Given the description of an element on the screen output the (x, y) to click on. 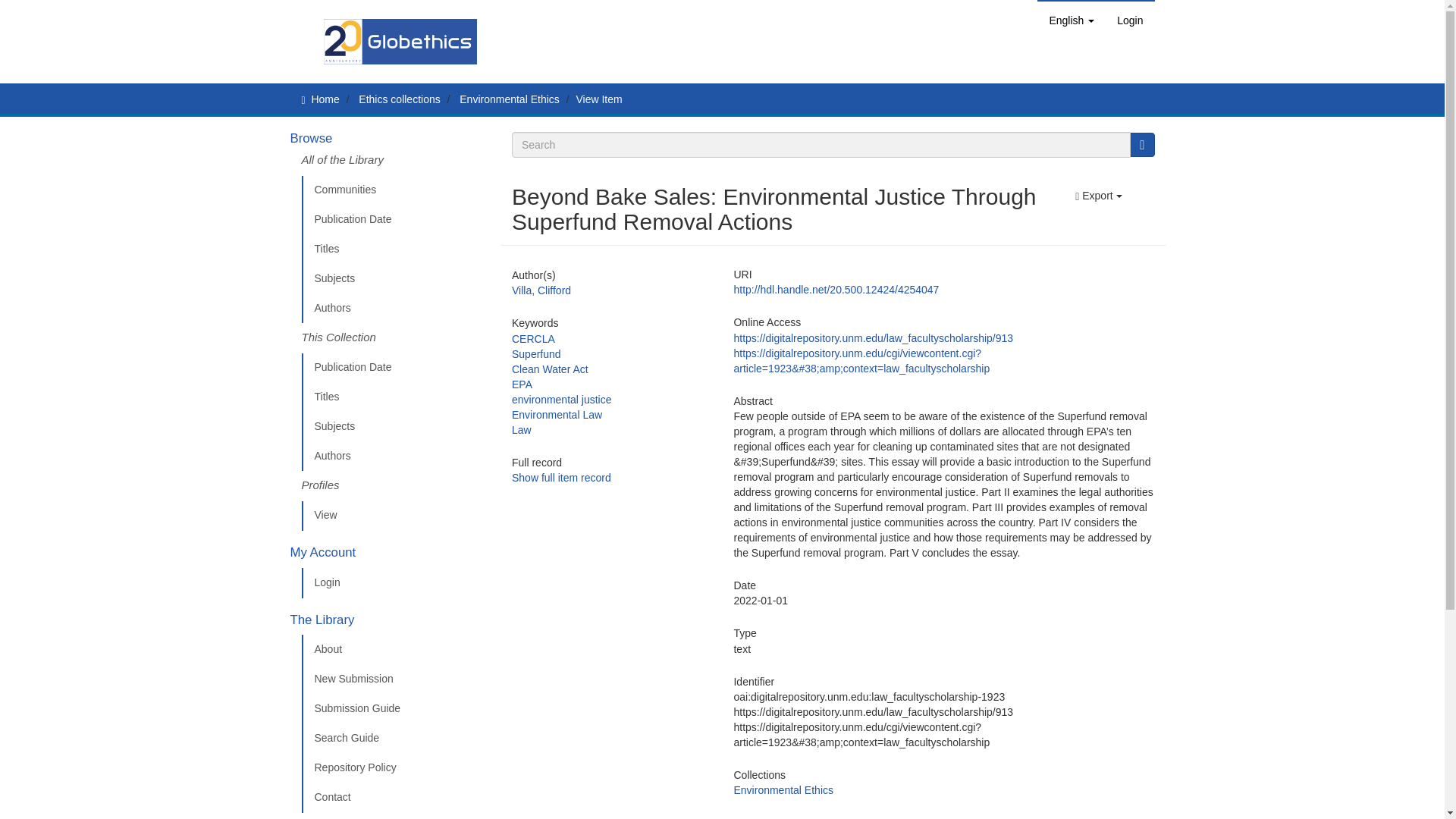
Go (1141, 144)
English  (1070, 19)
Communities (395, 190)
Ethics collections (398, 99)
All of the Library (395, 164)
Authors (395, 308)
Subjects (395, 278)
Environmental Ethics (509, 99)
Home (325, 99)
This Collection (395, 337)
Publication Date (395, 219)
Titles (395, 249)
Login (1129, 19)
